Given the description of an element on the screen output the (x, y) to click on. 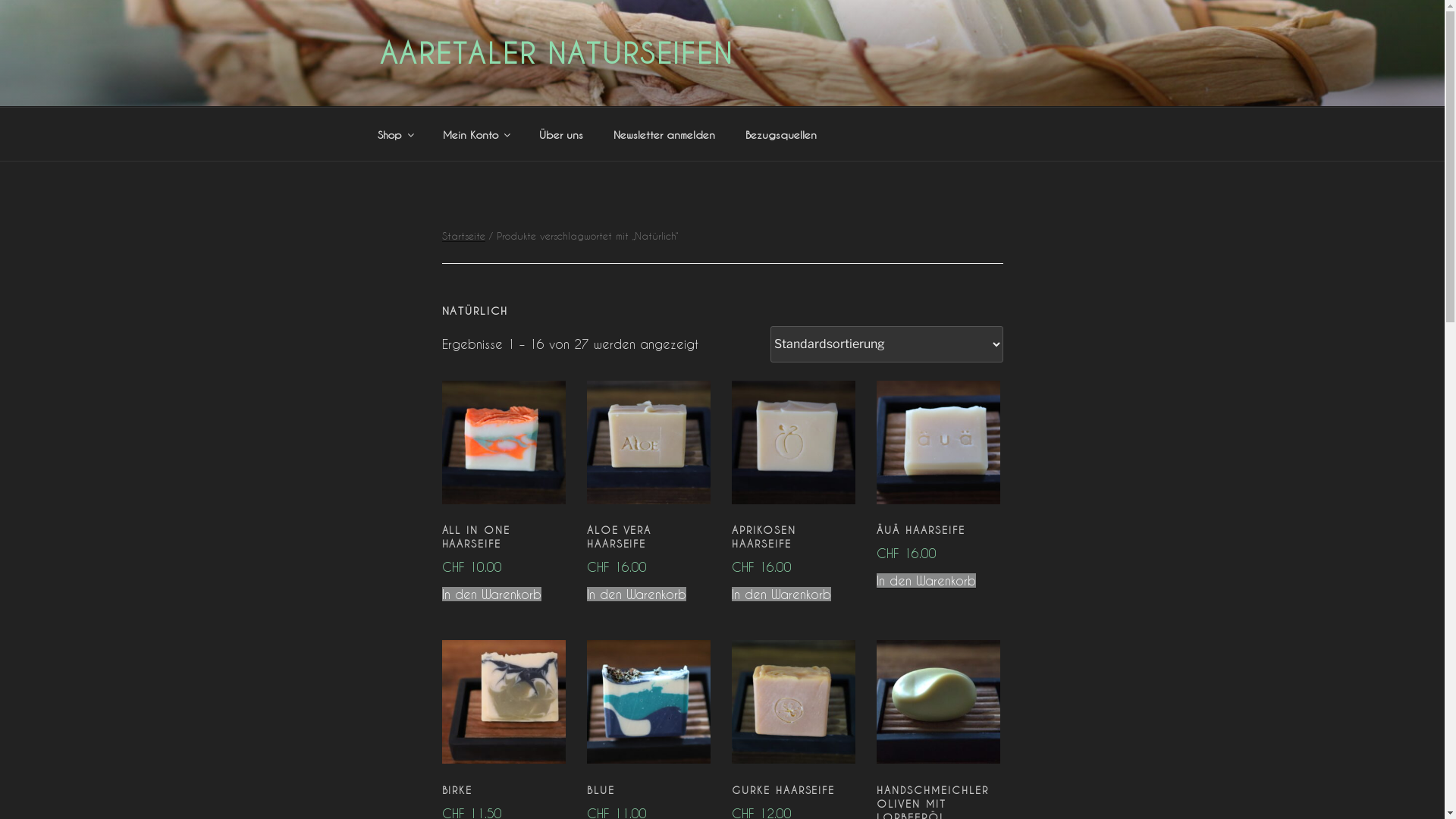
Mein Konto Element type: text (475, 133)
ALL IN ONE HAARSEIFE
CHF 10.00 Element type: text (502, 547)
ALOE VERA HAARSEIFE
CHF 16.00 Element type: text (648, 547)
Startseite Element type: text (462, 235)
Newsletter anmelden Element type: text (664, 133)
In den Warenkorb Element type: text (636, 593)
Bezugsquellen Element type: text (781, 133)
Shop Element type: text (394, 133)
In den Warenkorb Element type: text (490, 593)
AARETALER NATURSEIFEN Element type: text (555, 53)
In den Warenkorb Element type: text (925, 580)
In den Warenkorb Element type: text (781, 593)
APRIKOSEN HAARSEIFE
CHF 16.00 Element type: text (793, 547)
